Given the description of an element on the screen output the (x, y) to click on. 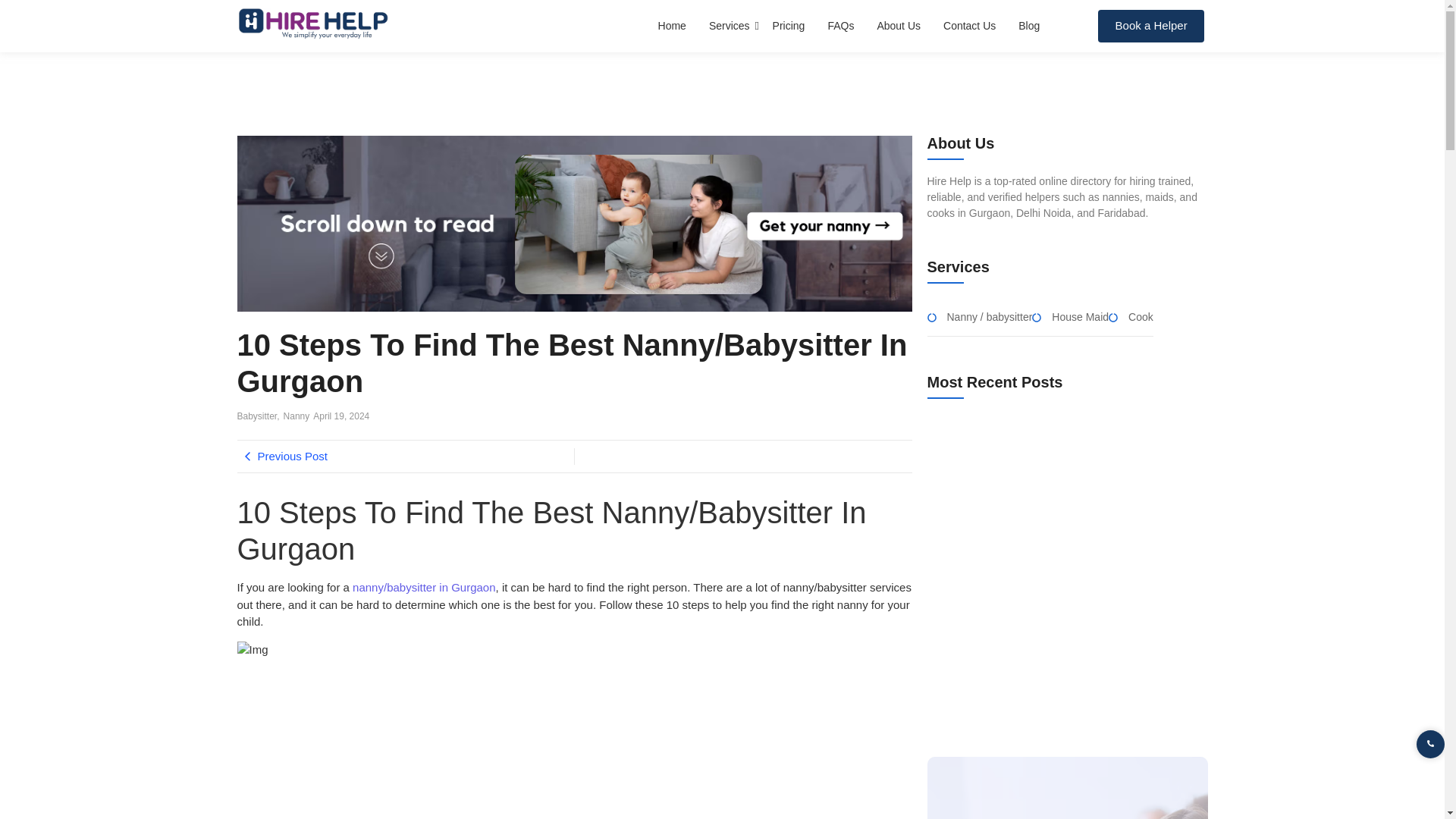
Home (671, 25)
FAQs (840, 25)
Blog (1028, 25)
Book a Helper (1150, 25)
Pricing (789, 25)
Contact Us (969, 25)
Previous Post (404, 456)
Services (729, 25)
House Maid (1079, 316)
Cook (1140, 316)
